Given the description of an element on the screen output the (x, y) to click on. 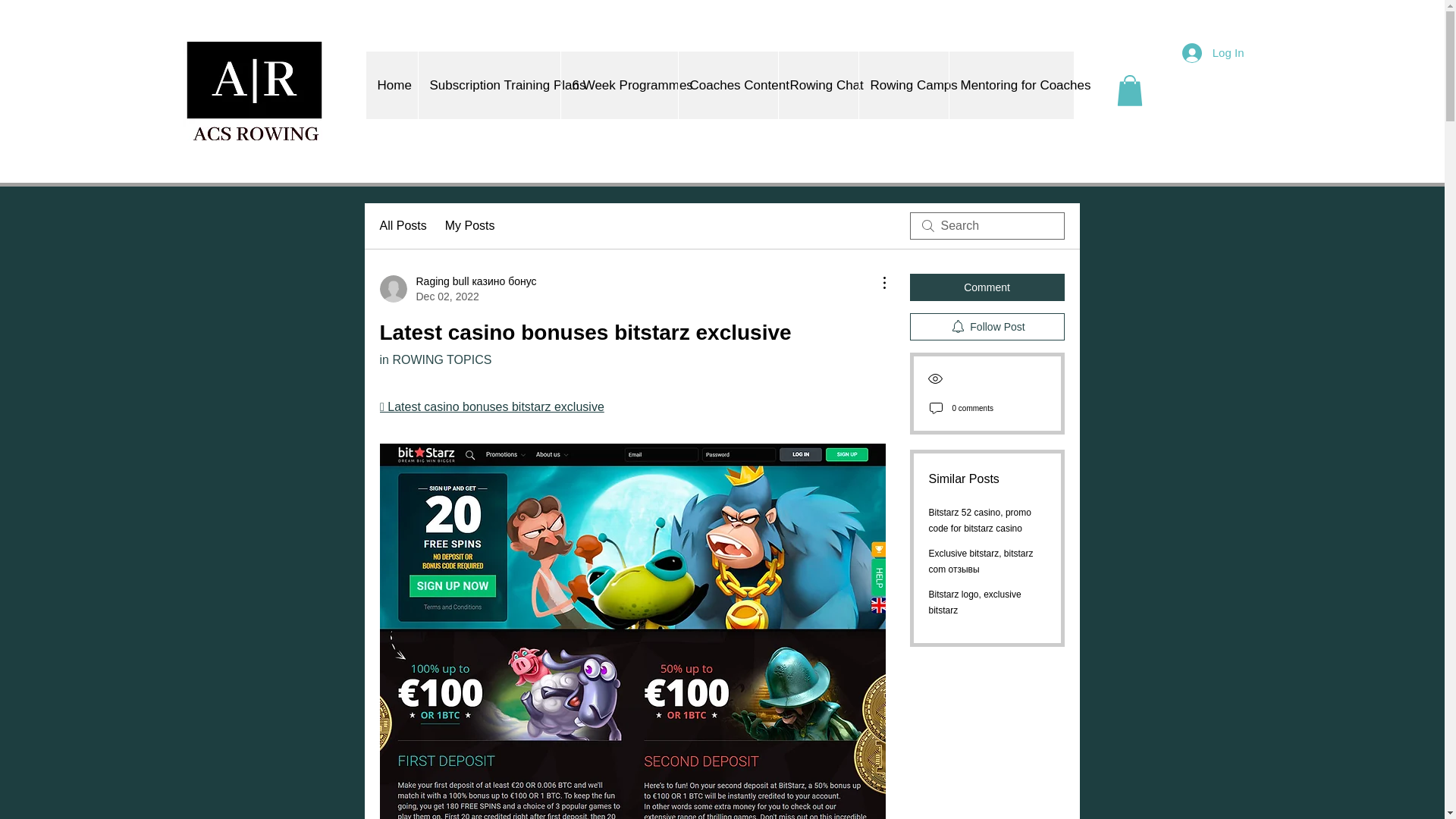
Mentoring for Coaches (1010, 84)
Bitstarz 52 casino, promo code for bitstarz casino (979, 519)
in ROWING TOPICS (435, 359)
Comment (987, 287)
Rowing Chat (818, 84)
Rowing Camps (904, 84)
Coaches Content (727, 84)
All Posts (402, 226)
My Posts (470, 226)
Log In (1213, 51)
Follow Post (987, 326)
Bitstarz logo, exclusive bitstarz (974, 601)
Subscription Training Plans (487, 84)
6 Week Programmes (618, 84)
